Given the description of an element on the screen output the (x, y) to click on. 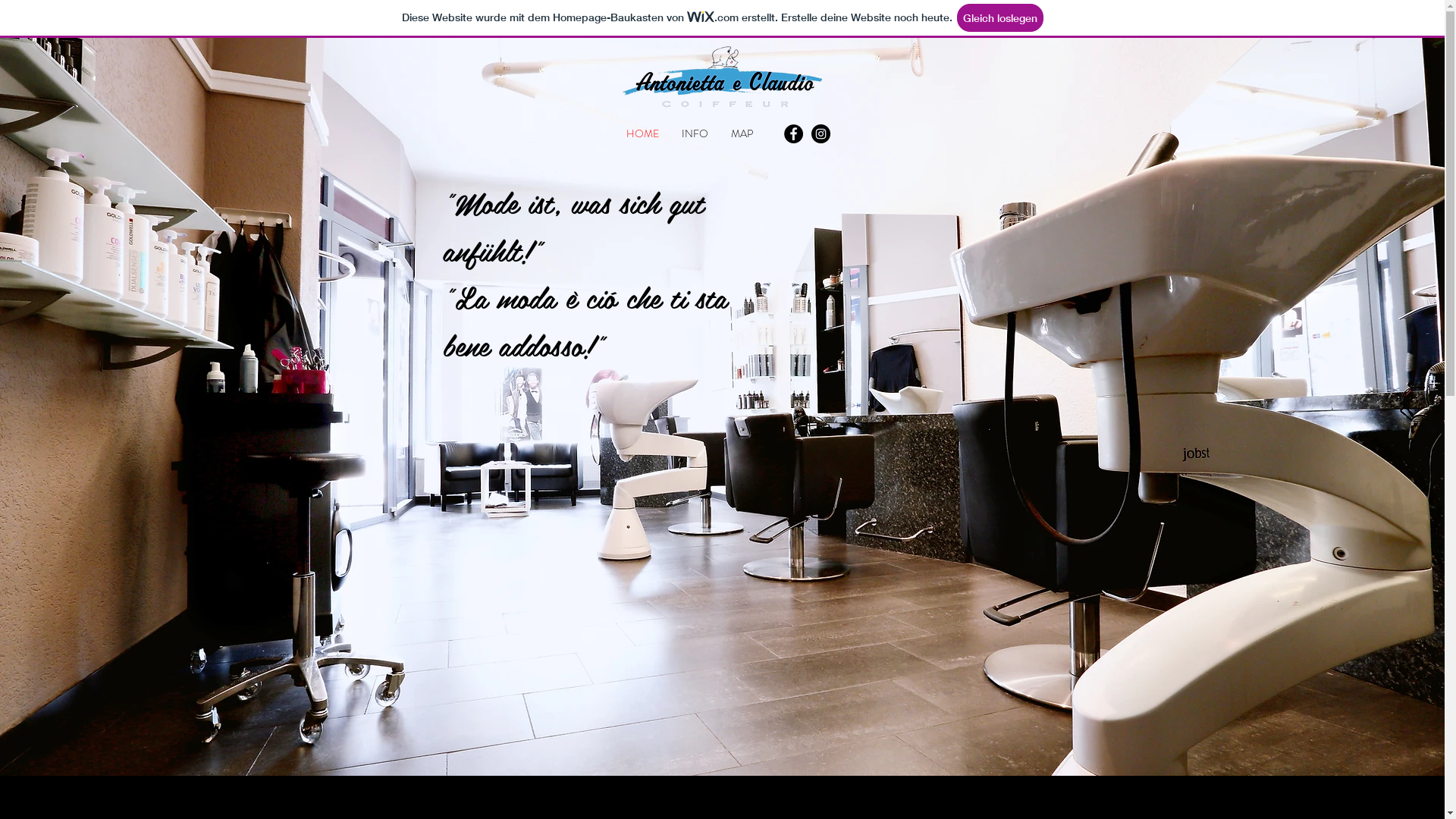
INFO Element type: text (694, 133)
MAP Element type: text (740, 133)
HOME Element type: text (641, 133)
